Given the description of an element on the screen output the (x, y) to click on. 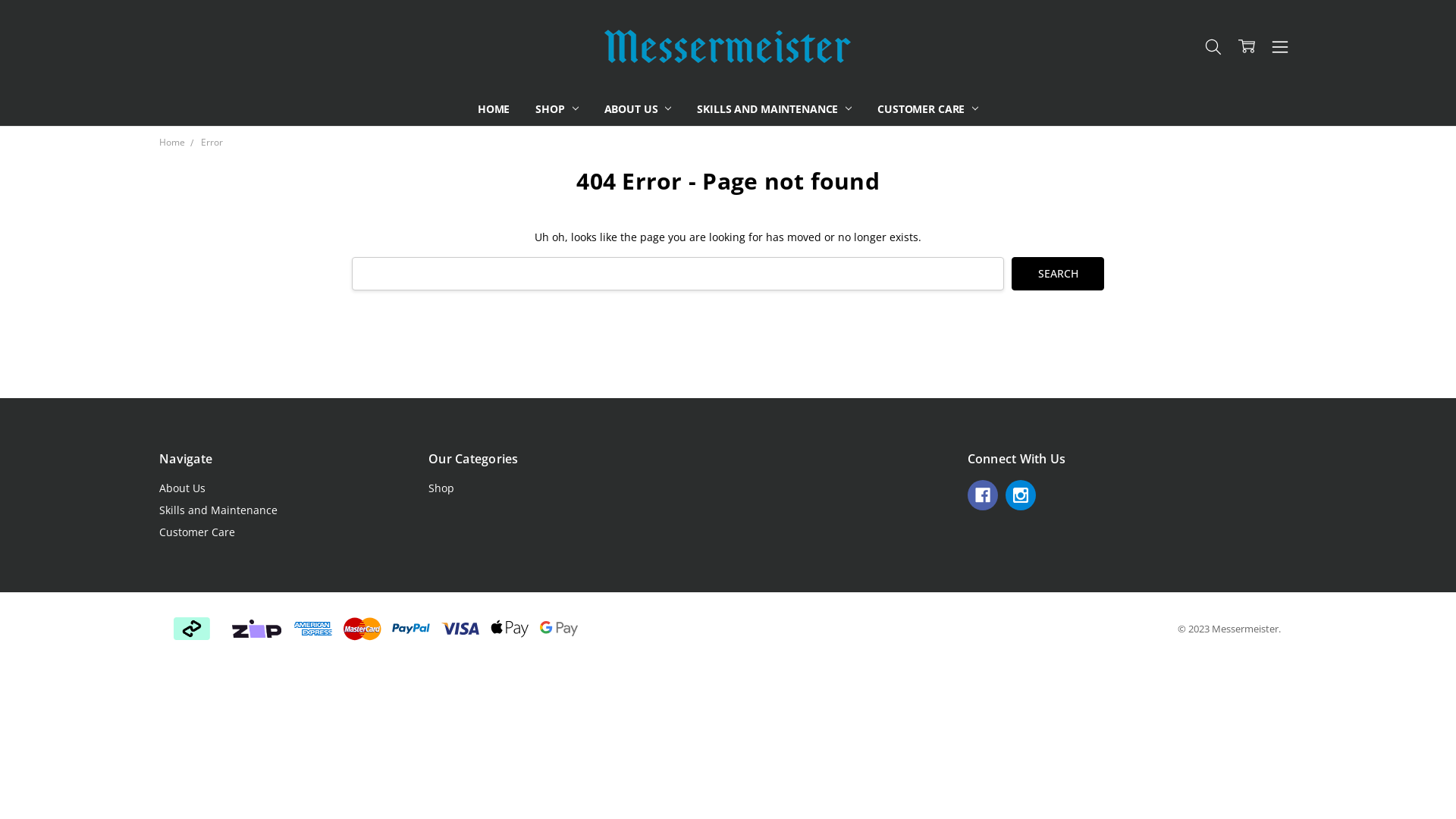
Customer Care Element type: text (197, 531)
Skills and Maintenance Element type: text (218, 509)
SKILLS AND MAINTENANCE Element type: text (774, 108)
Home Element type: text (172, 141)
CUSTOMER CARE Element type: text (927, 108)
Search Element type: text (1057, 274)
ABOUT US Element type: text (637, 108)
Show All Element type: hover (749, 109)
About Us Element type: text (182, 487)
Error Element type: text (211, 141)
Shop Element type: text (441, 487)
HOME Element type: text (493, 108)
SHOP Element type: text (556, 108)
Messermeister Element type: hover (728, 46)
